Given the description of an element on the screen output the (x, y) to click on. 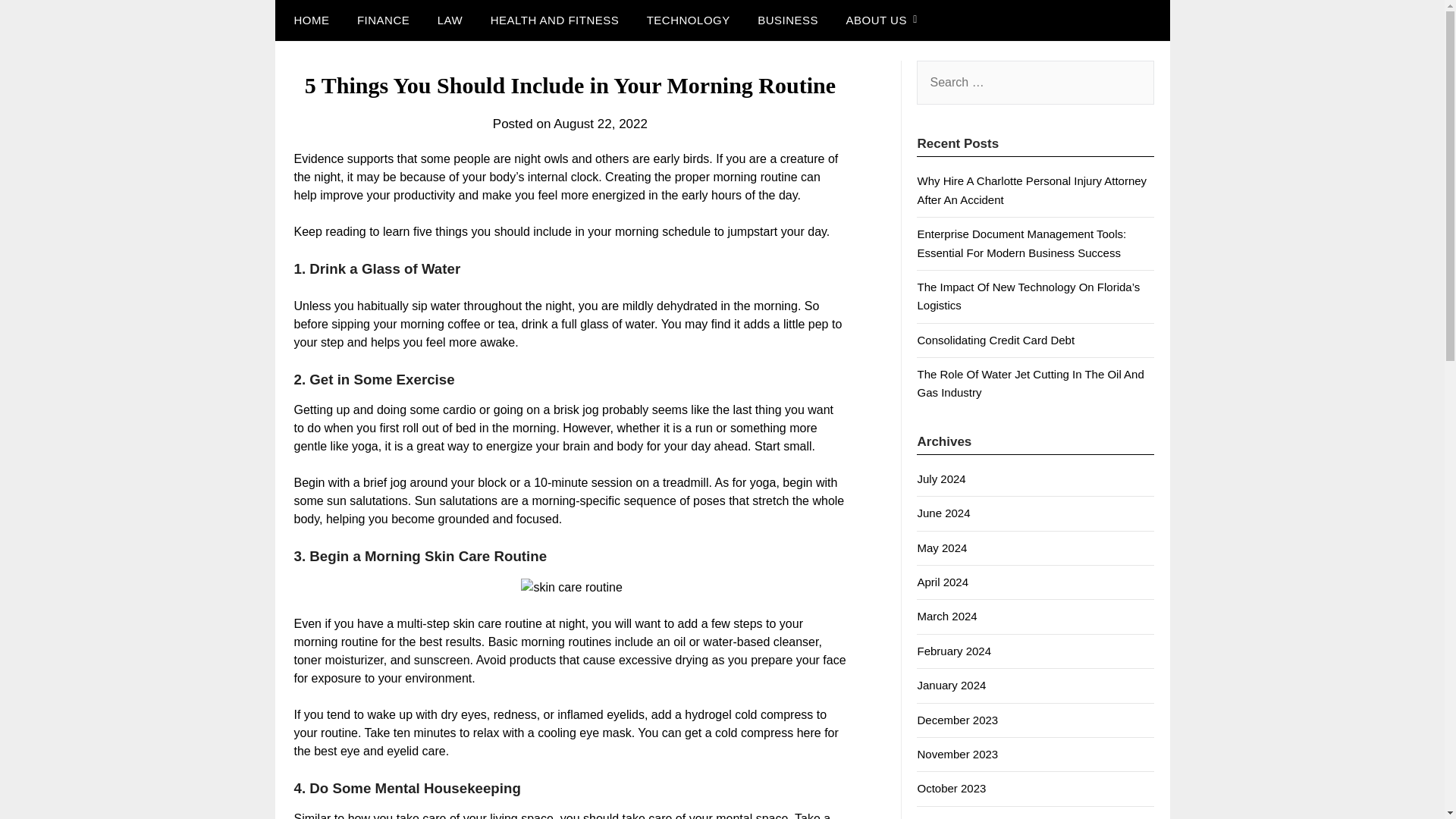
April 2024 (942, 581)
March 2024 (946, 615)
December 2023 (957, 719)
The Role Of Water Jet Cutting In The Oil And Gas Industry (1029, 382)
FINANCE (383, 20)
HOME (307, 20)
July 2024 (941, 478)
May 2024 (941, 547)
HEALTH AND FITNESS (555, 20)
5 Things You Should Include in Your Morning Routine (571, 587)
Consolidating Credit Card Debt (995, 339)
BUSINESS (787, 20)
TECHNOLOGY (688, 20)
January 2024 (951, 684)
